Given the description of an element on the screen output the (x, y) to click on. 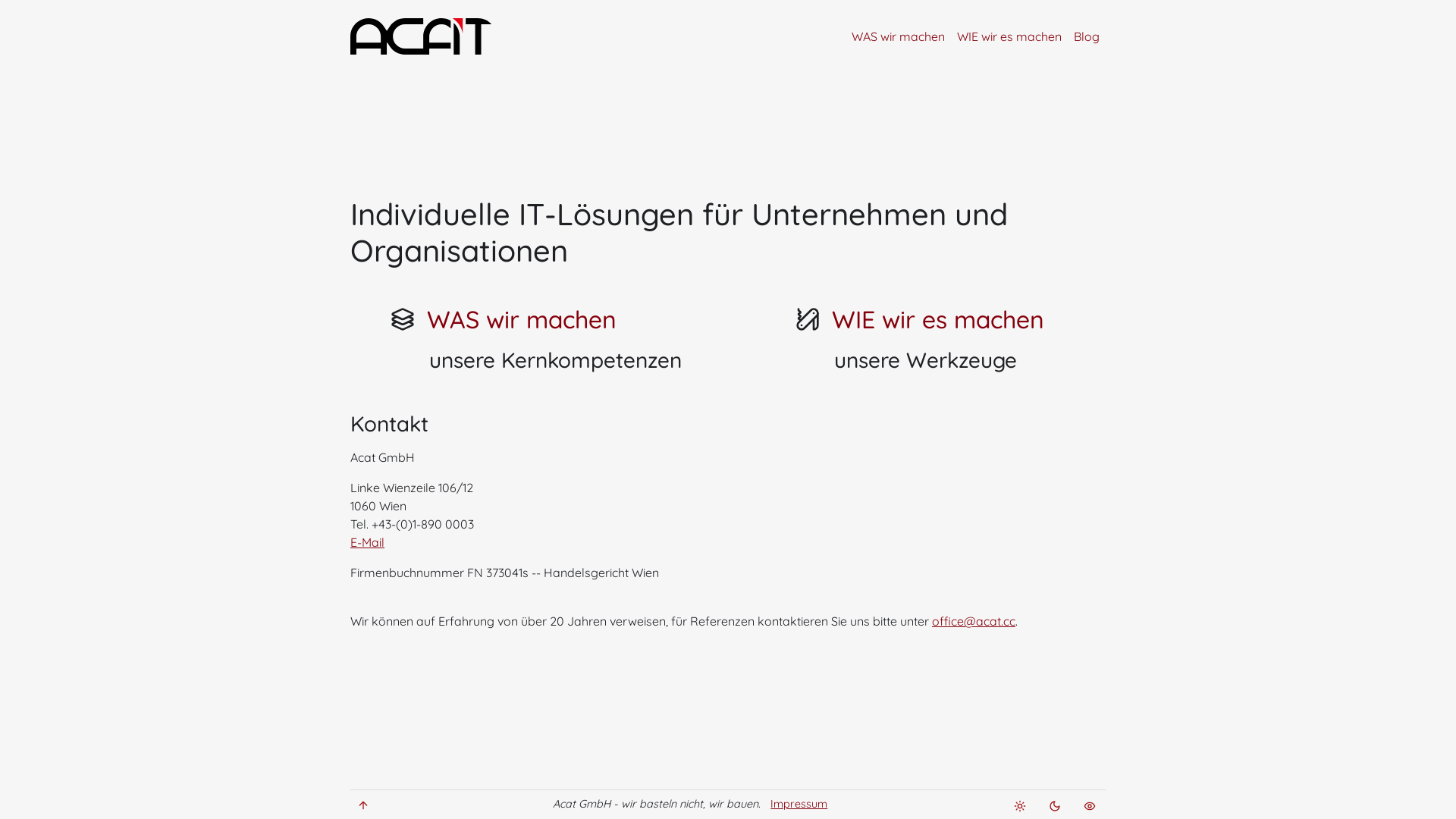
Impressum Element type: text (798, 803)
Blog Element type: text (1086, 36)
WAS wir machen Element type: text (897, 36)
Acat GmbH Element type: text (431, 36)
Nach oben springen Element type: hover (363, 804)
WIE wir es machen Element type: text (1008, 36)
office@acat.cc Element type: text (973, 620)
E-Mail Element type: text (367, 541)
WIE wir es machen Element type: text (937, 319)
WAS wir machen Element type: text (521, 319)
